Given the description of an element on the screen output the (x, y) to click on. 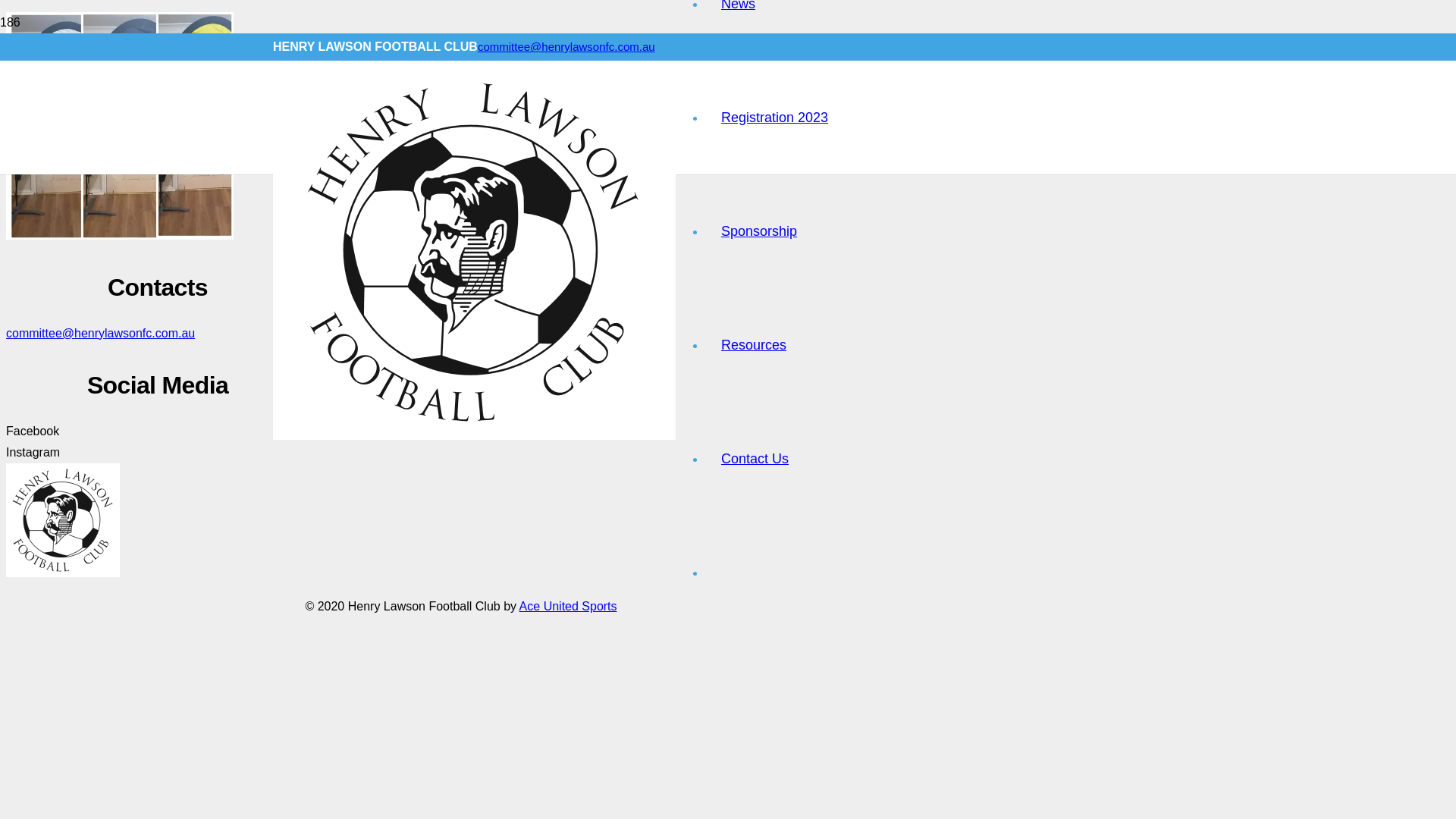
committee@henrylawsonfc.com.au Element type: text (566, 46)
Ace United Sports Element type: text (568, 605)
Resources Element type: text (753, 344)
Registration 2023 Element type: text (774, 117)
Contact Us Element type: text (754, 458)
Sponsorship Element type: text (759, 230)
committee@henrylawsonfc.com.au Element type: text (157, 333)
